Given the description of an element on the screen output the (x, y) to click on. 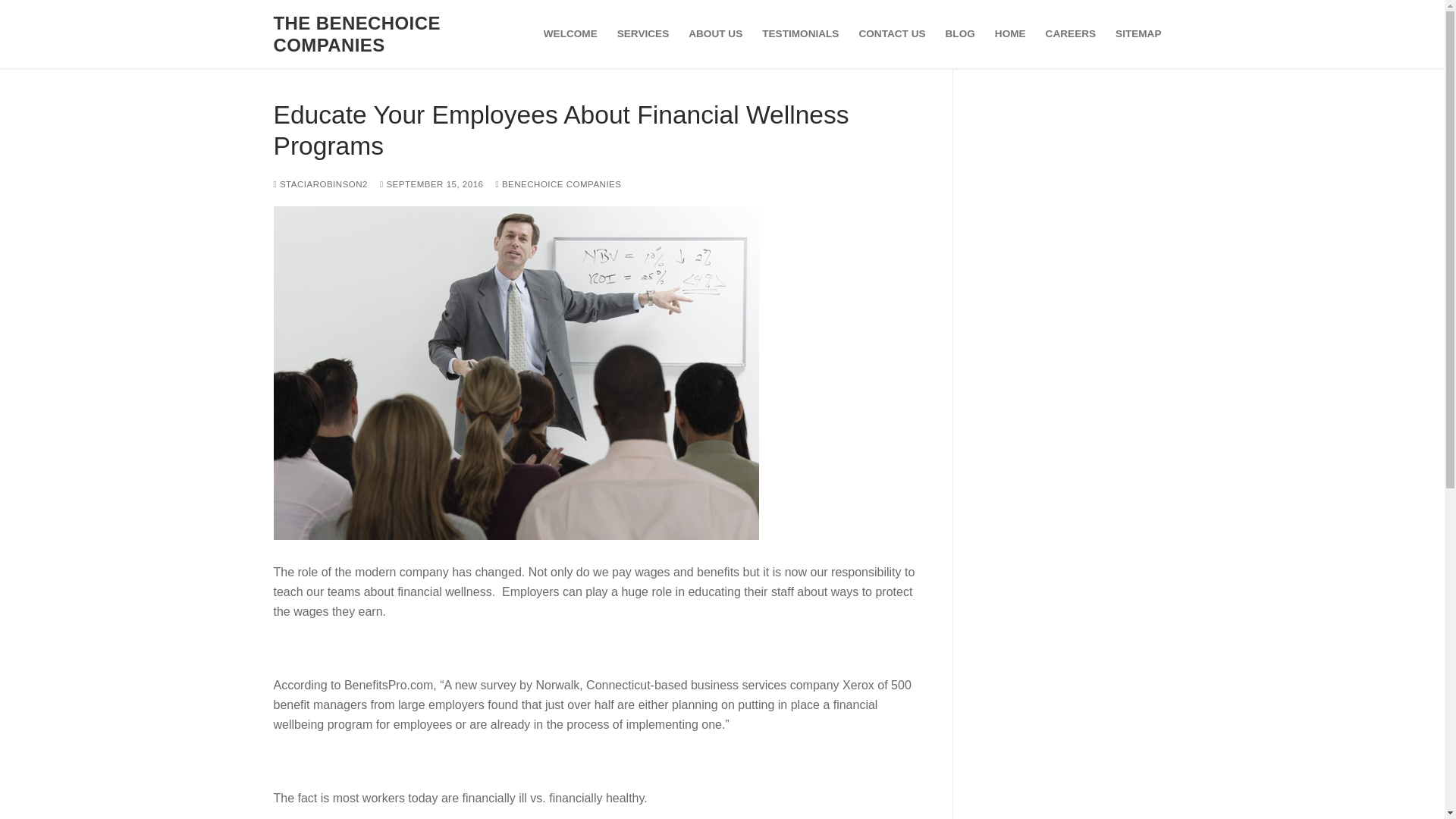
CAREERS (1070, 33)
THE BENECHOICE COMPANIES (380, 34)
SEPTEMBER 15, 2016 (431, 184)
ABOUT US (715, 33)
TESTIMONIALS (800, 33)
HOME (1010, 33)
SITEMAP (1137, 33)
CONTACT US (891, 33)
About Us (800, 33)
WELCOME (570, 33)
